Given the description of an element on the screen output the (x, y) to click on. 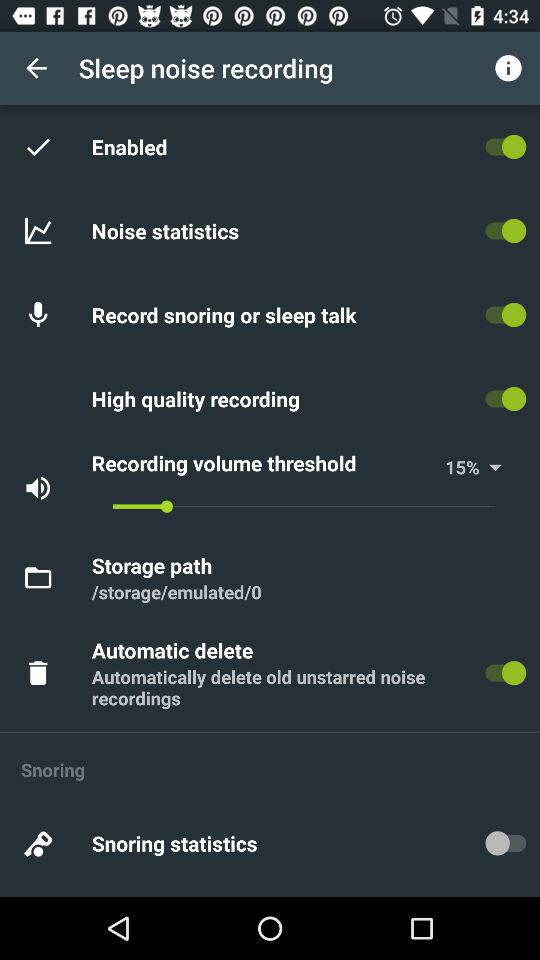
turn on item to the right of recording volume threshold item (455, 466)
